Given the description of an element on the screen output the (x, y) to click on. 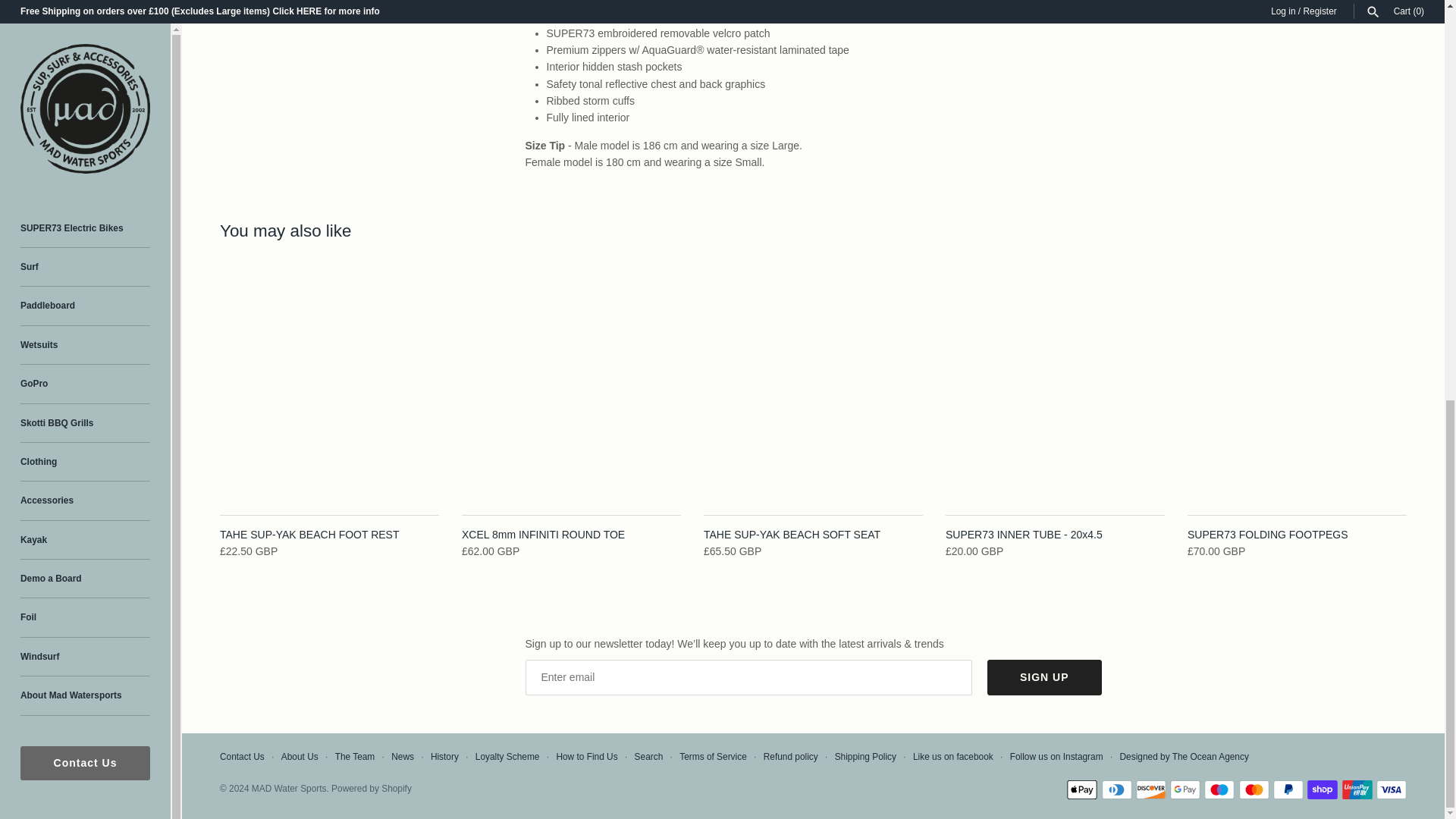
Visa (1390, 789)
Maestro (1219, 789)
SUPER73 FOLDING FOOTPEGS (1297, 389)
Mastercard (1254, 789)
PayPal (1287, 789)
SUPER73 INNER TUBE - 20x4.5 (1054, 389)
TAHE SUP-YAK BEACH FOOT REST (329, 389)
Discover (1150, 789)
Diners Club (1115, 789)
XCEL 8mm INFINITI ROUND TOE (571, 389)
